Given the description of an element on the screen output the (x, y) to click on. 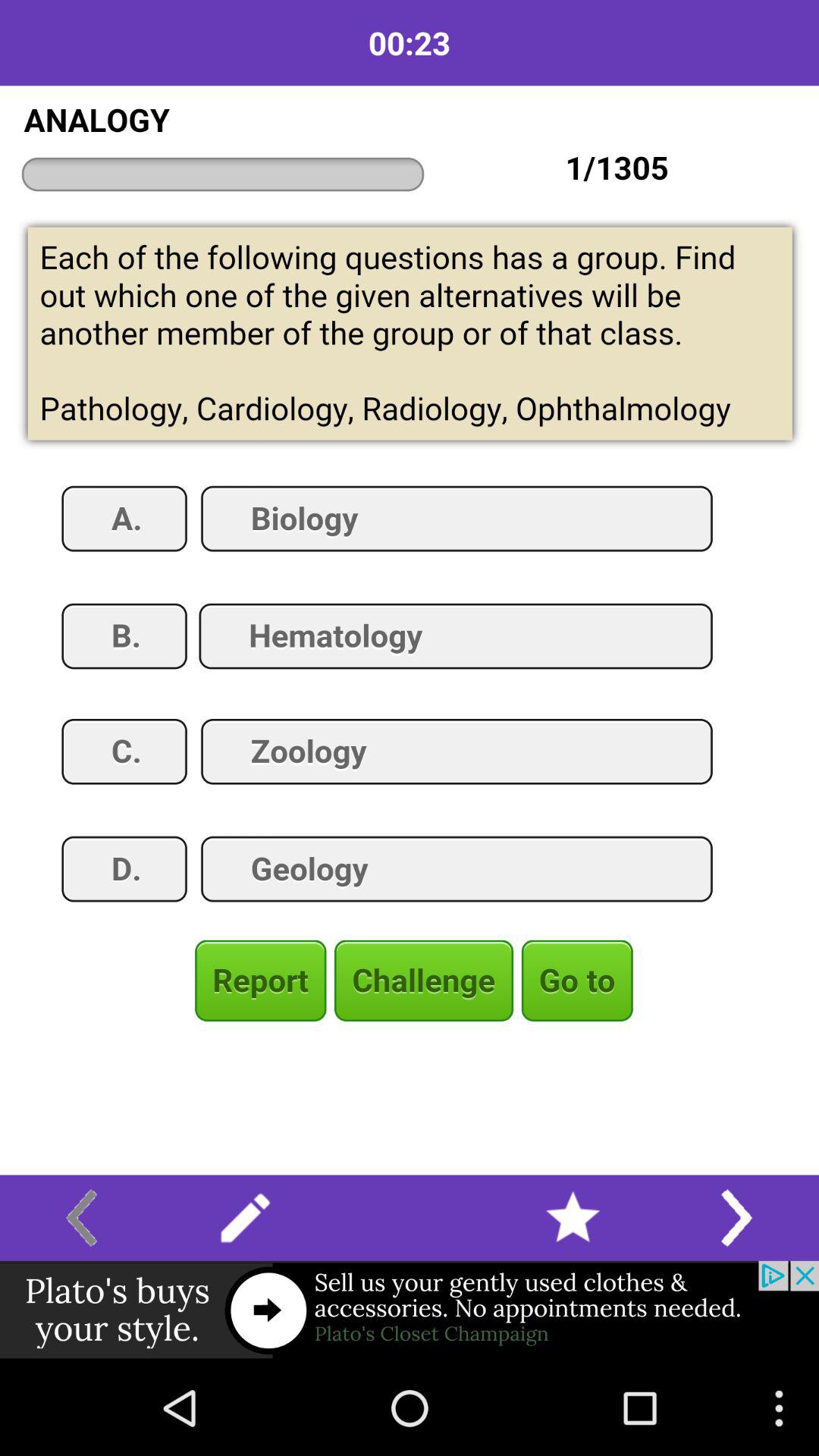
previous botton (81, 1217)
